Given the description of an element on the screen output the (x, y) to click on. 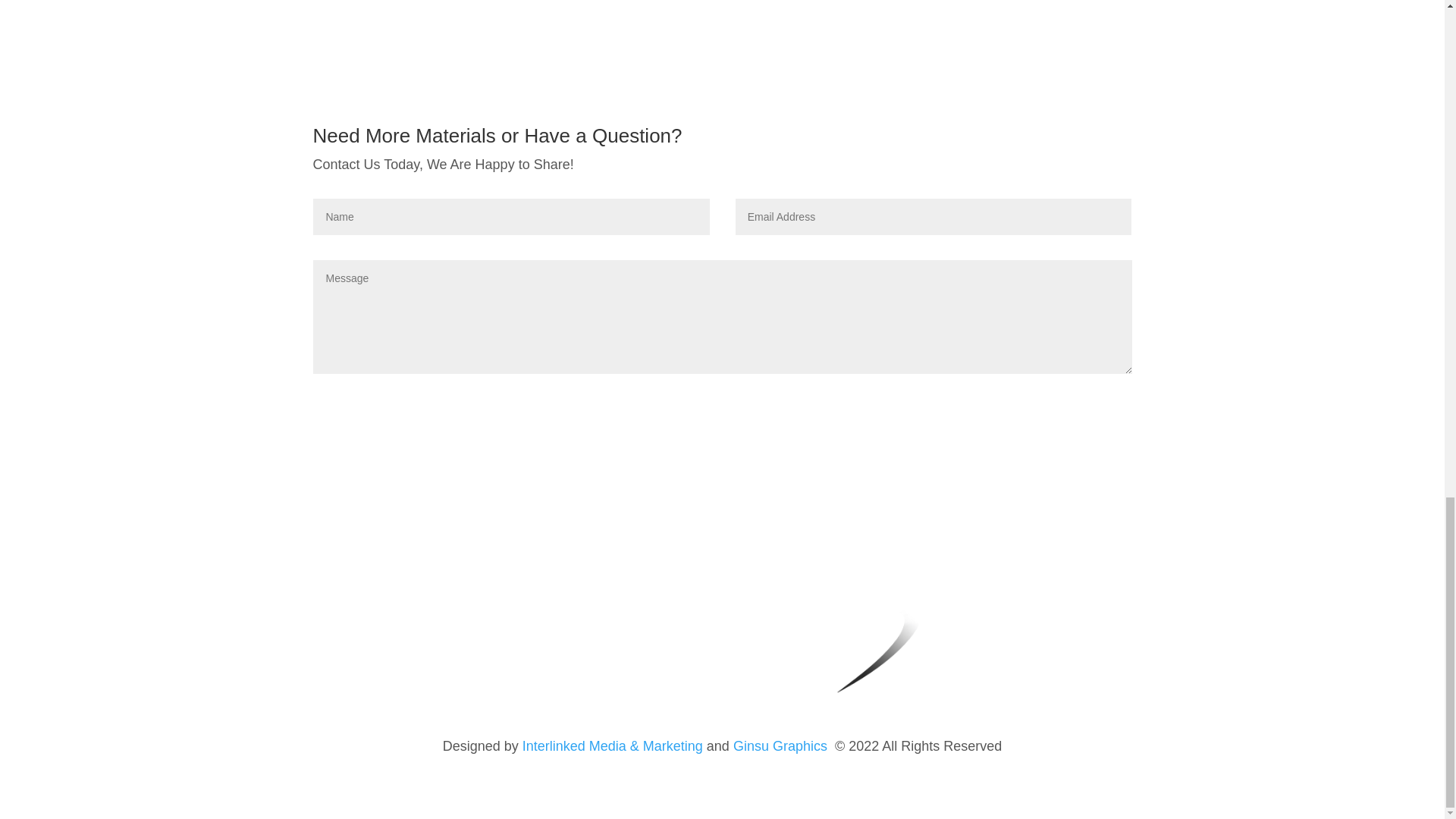
Page 8 (722, 746)
Ginsu Graphics (780, 745)
Ask Simplar! (1072, 405)
SIMPLAR LOGO - WHT -3 (981, 619)
